Given the description of an element on the screen output the (x, y) to click on. 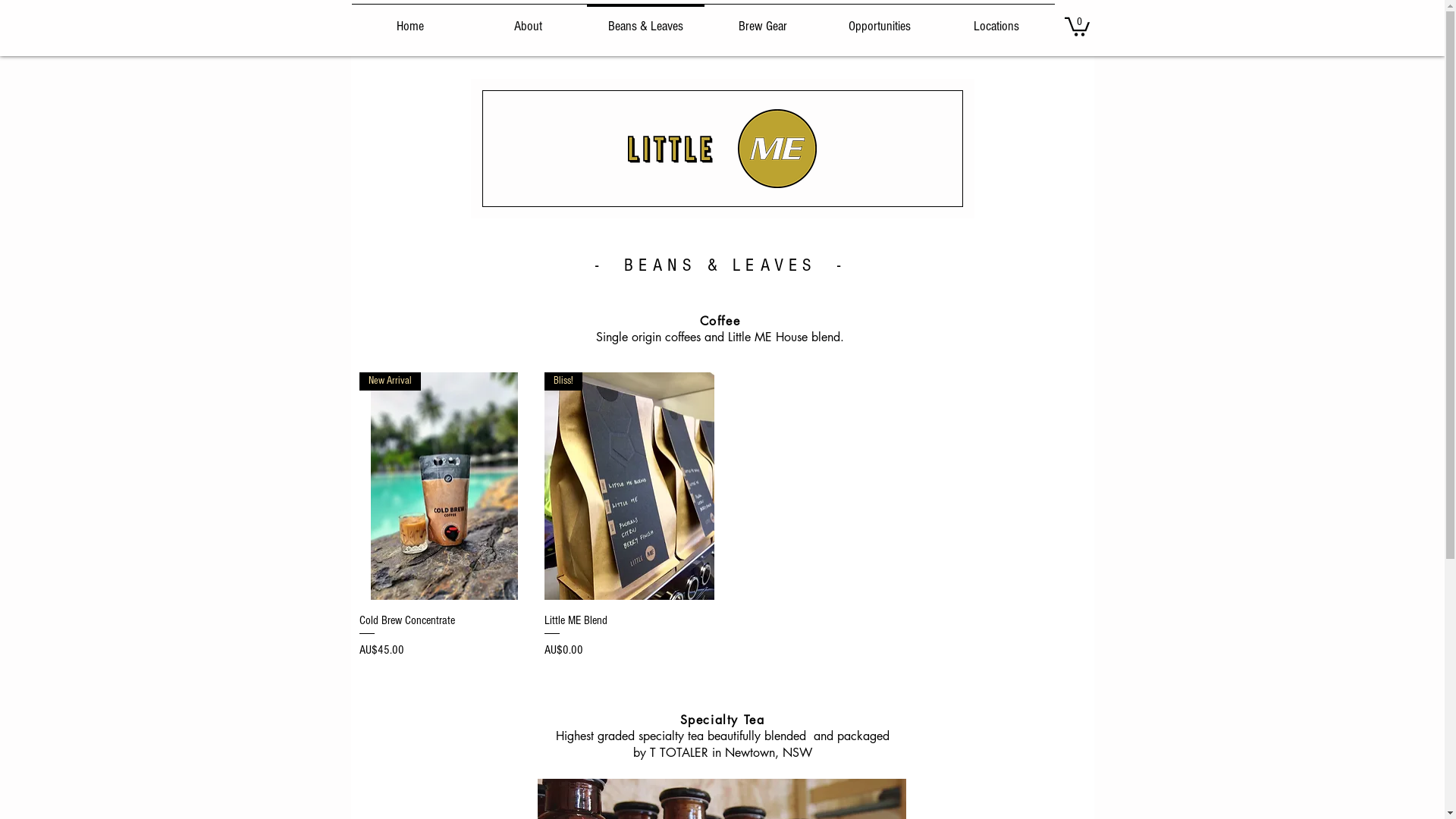
Bliss! Element type: text (629, 485)
Little ME Blend
Price
AU$0.00 Element type: text (629, 634)
About Element type: text (527, 19)
Cold Brew Concentrate
Price
AU$45.00 Element type: text (444, 634)
Locations Element type: text (995, 19)
0 Element type: text (1076, 25)
Home Element type: text (410, 19)
Golden logo.png Element type: hover (721, 148)
New Arrival Element type: text (444, 485)
Opportunities Element type: text (878, 19)
Beans & Leaves Element type: text (645, 19)
Brew Gear Element type: text (761, 19)
